Given the description of an element on the screen output the (x, y) to click on. 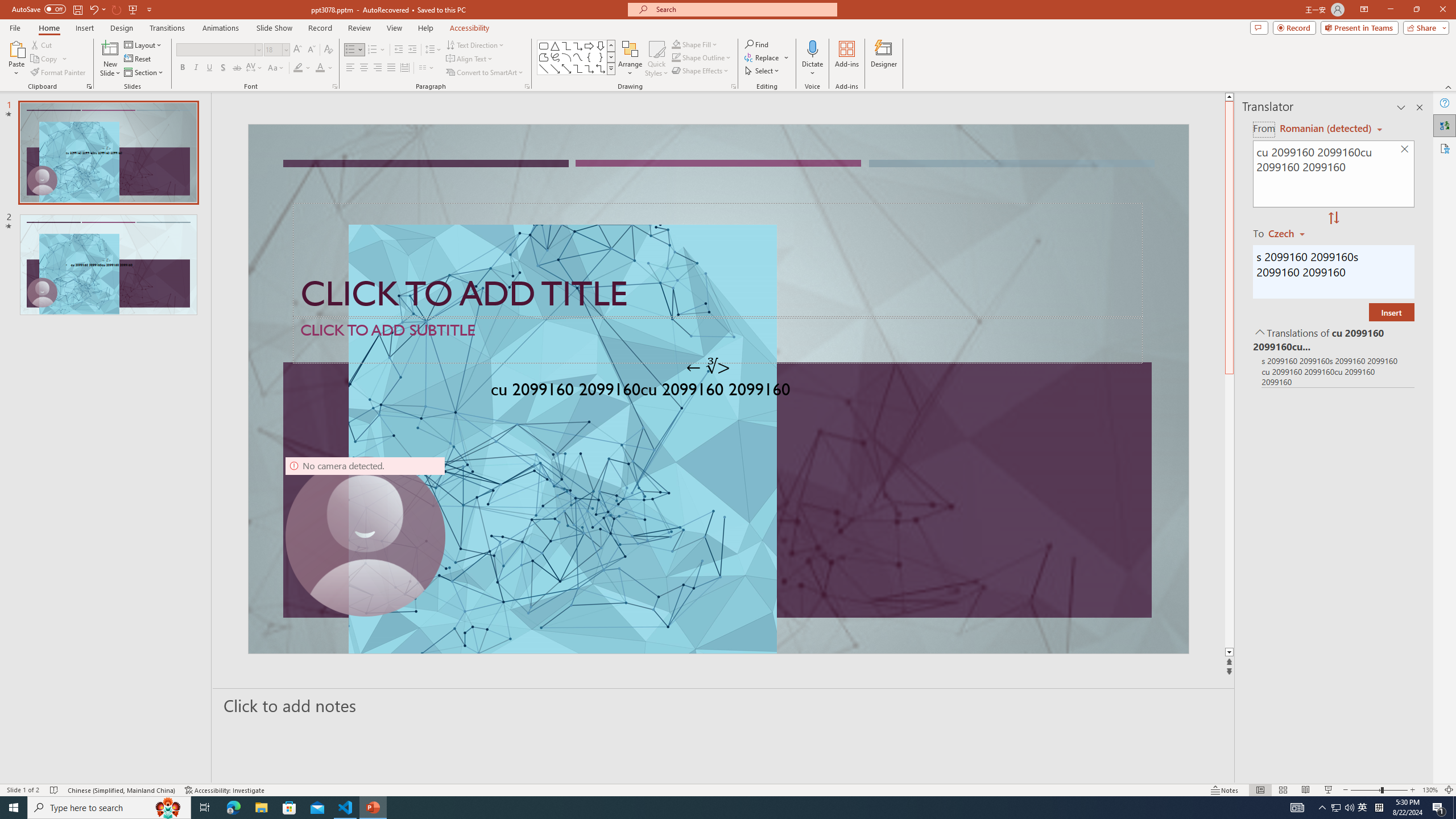
Designer (883, 58)
Camera 9, No camera detected. (364, 536)
Italic (195, 67)
TextBox 61 (716, 391)
Layout (143, 44)
Font... (334, 85)
Font Color (324, 67)
Paste (16, 48)
